Given the description of an element on the screen output the (x, y) to click on. 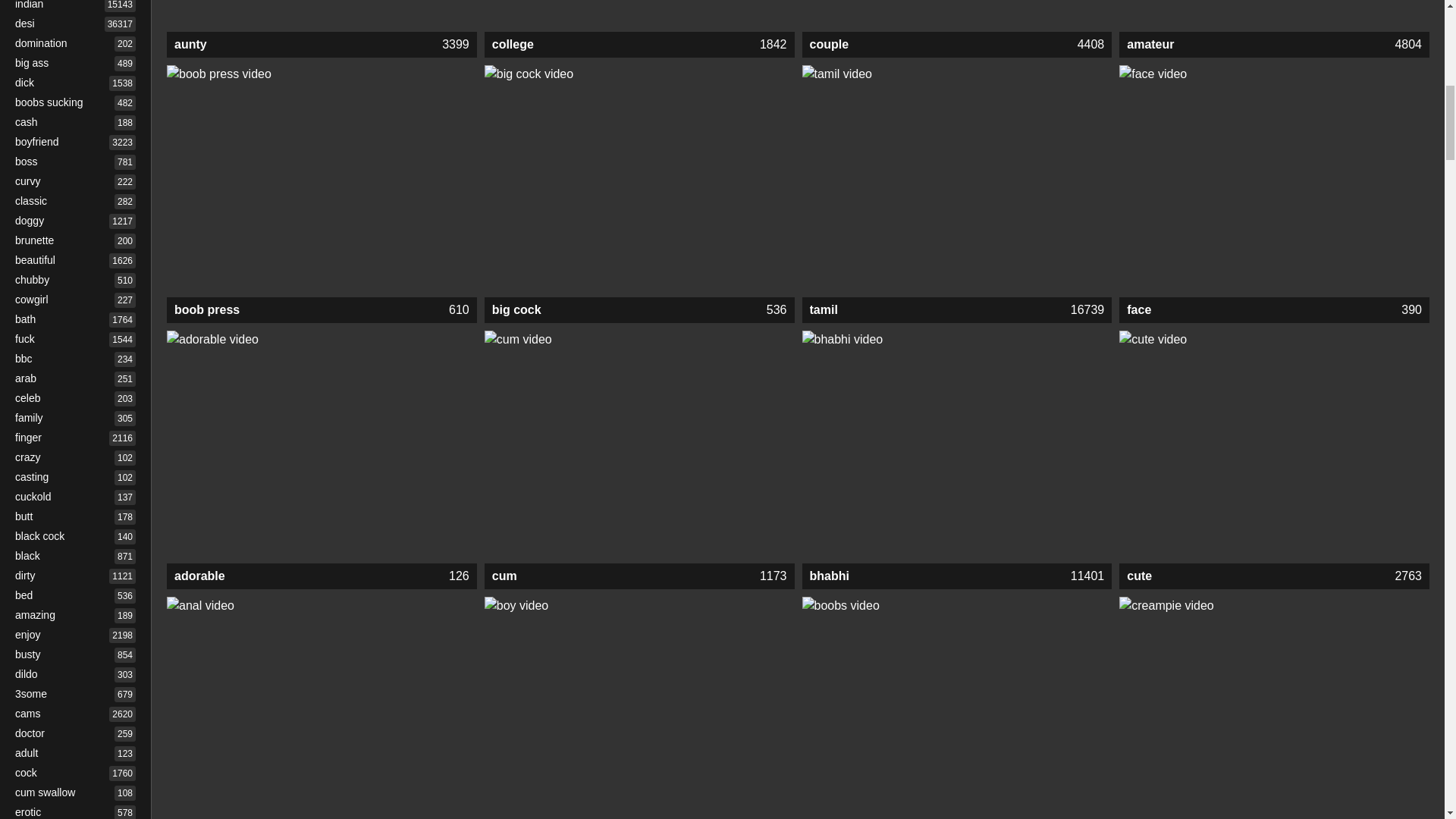
aunty (322, 15)
college (639, 44)
aunty (322, 44)
college (639, 15)
